Given the description of an element on the screen output the (x, y) to click on. 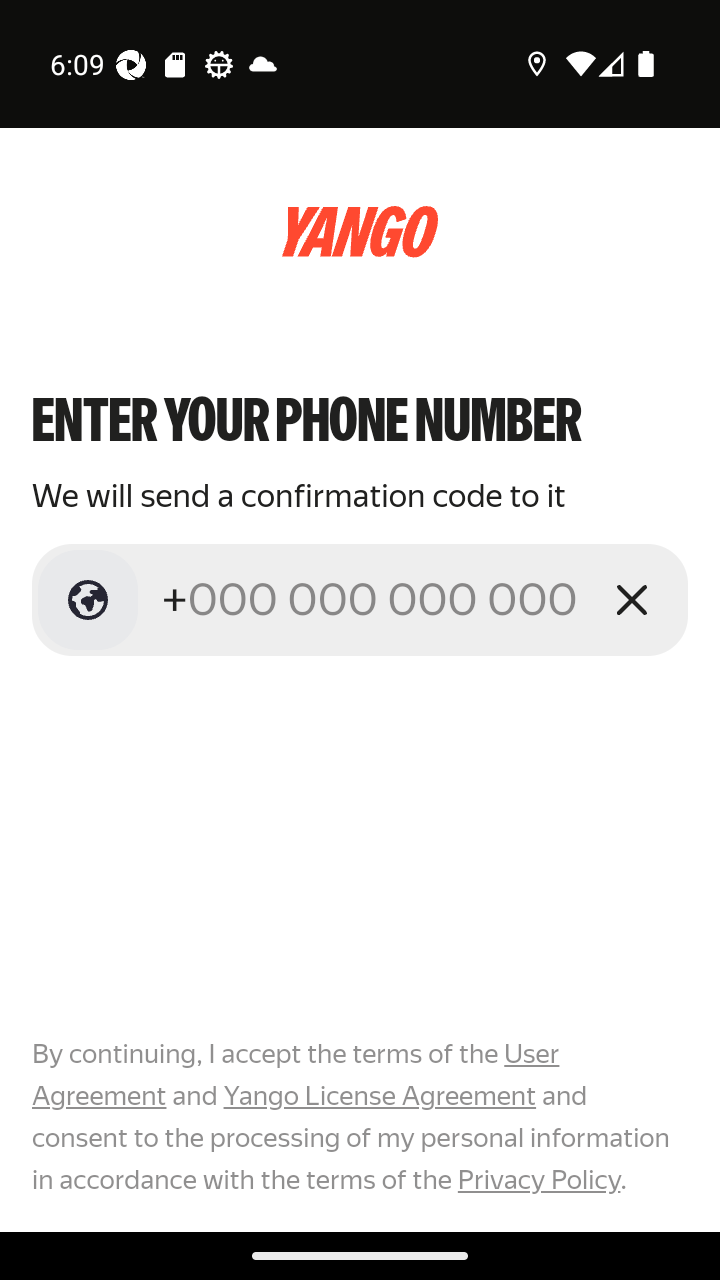
logo (359, 231)
  (88, 600)
+ (372, 599)
User Agreement (295, 1075)
Yango License Agreement (379, 1096)
Privacy Policy (538, 1179)
